Given the description of an element on the screen output the (x, y) to click on. 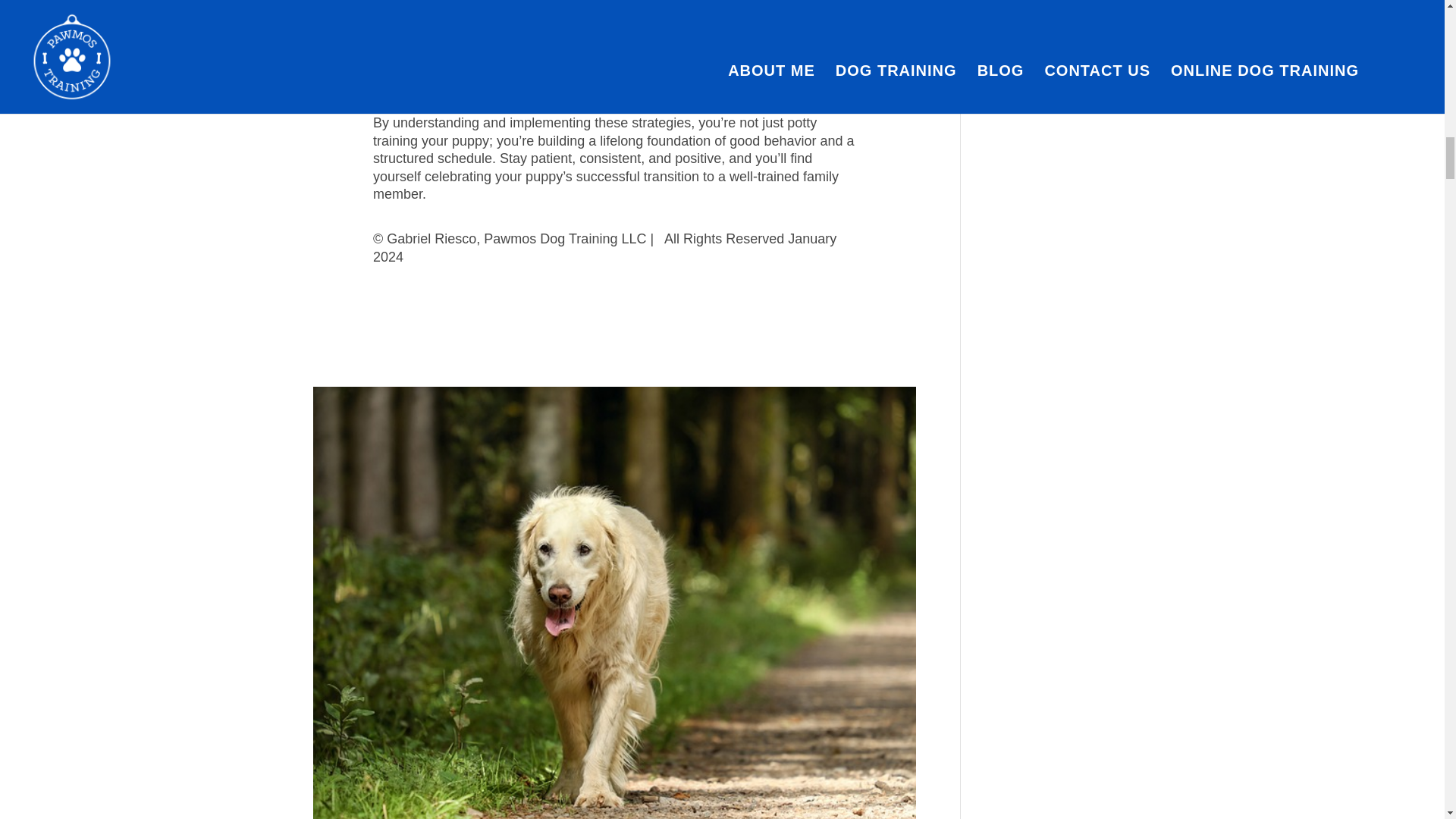
Sample Professional Potty Training Schedule  (580, 82)
